Given the description of an element on the screen output the (x, y) to click on. 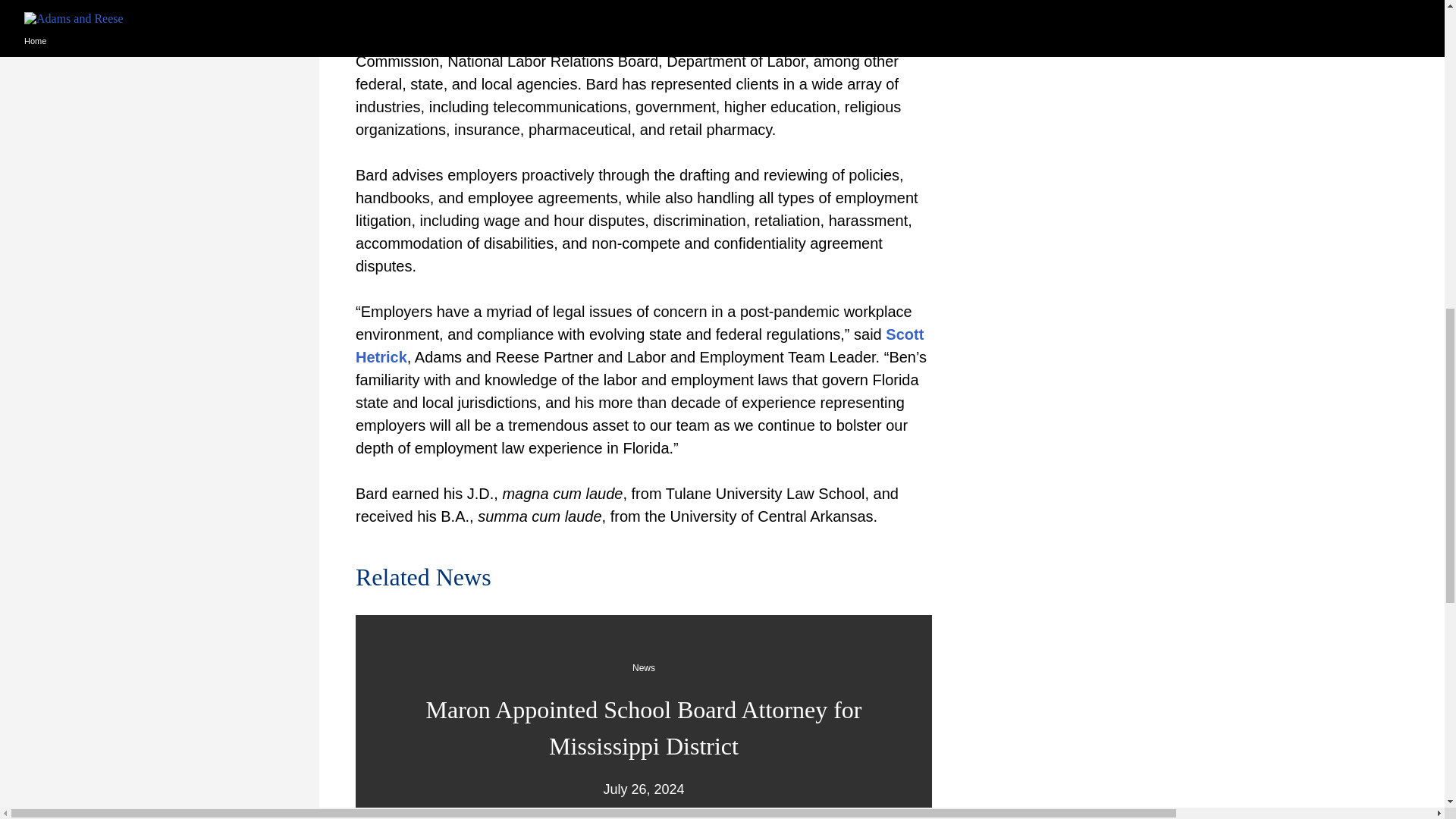
Scott Hetrick (639, 345)
